Given the description of an element on the screen output the (x, y) to click on. 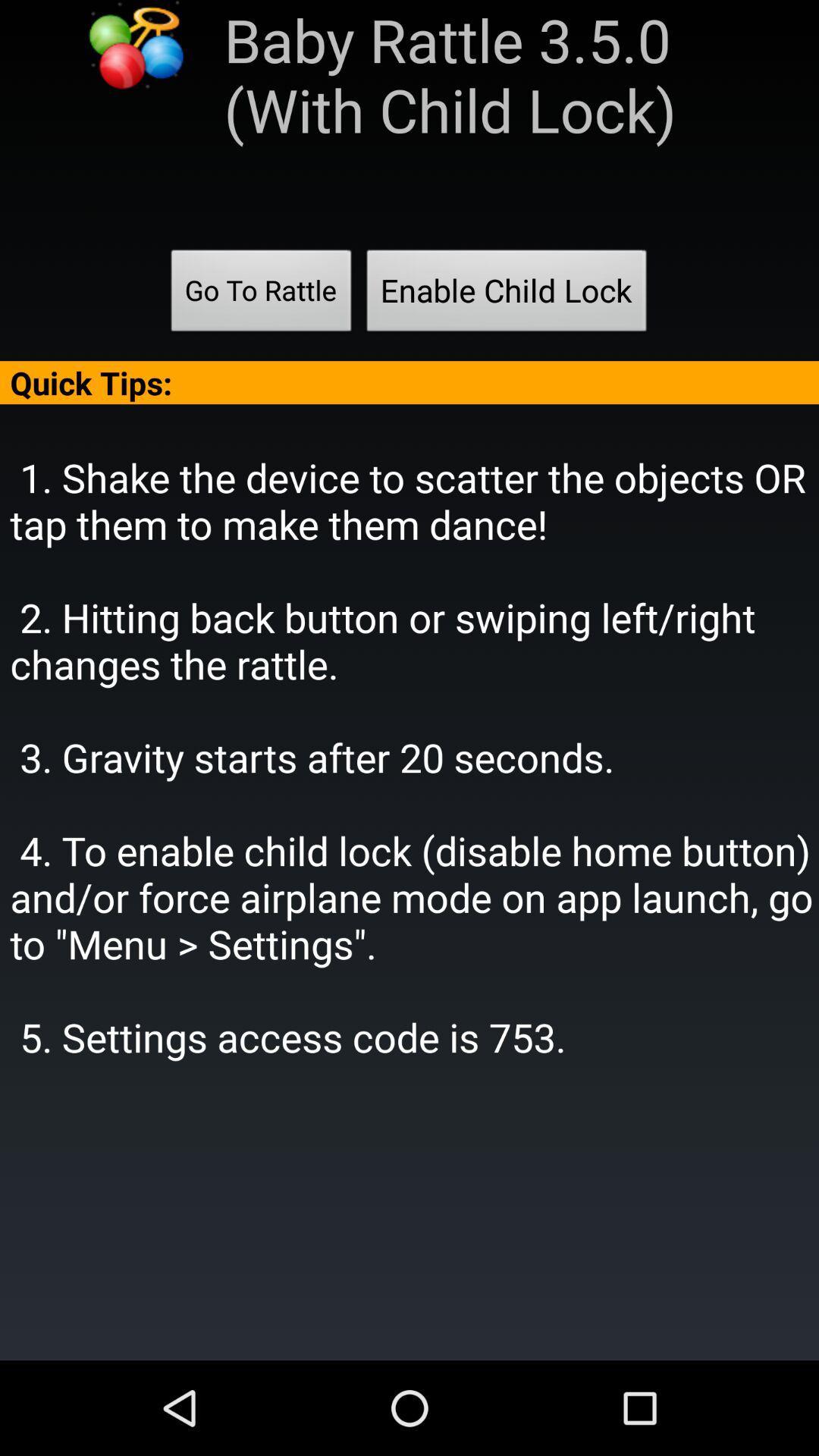
select the item next to the enable child lock icon (261, 294)
